Given the description of an element on the screen output the (x, y) to click on. 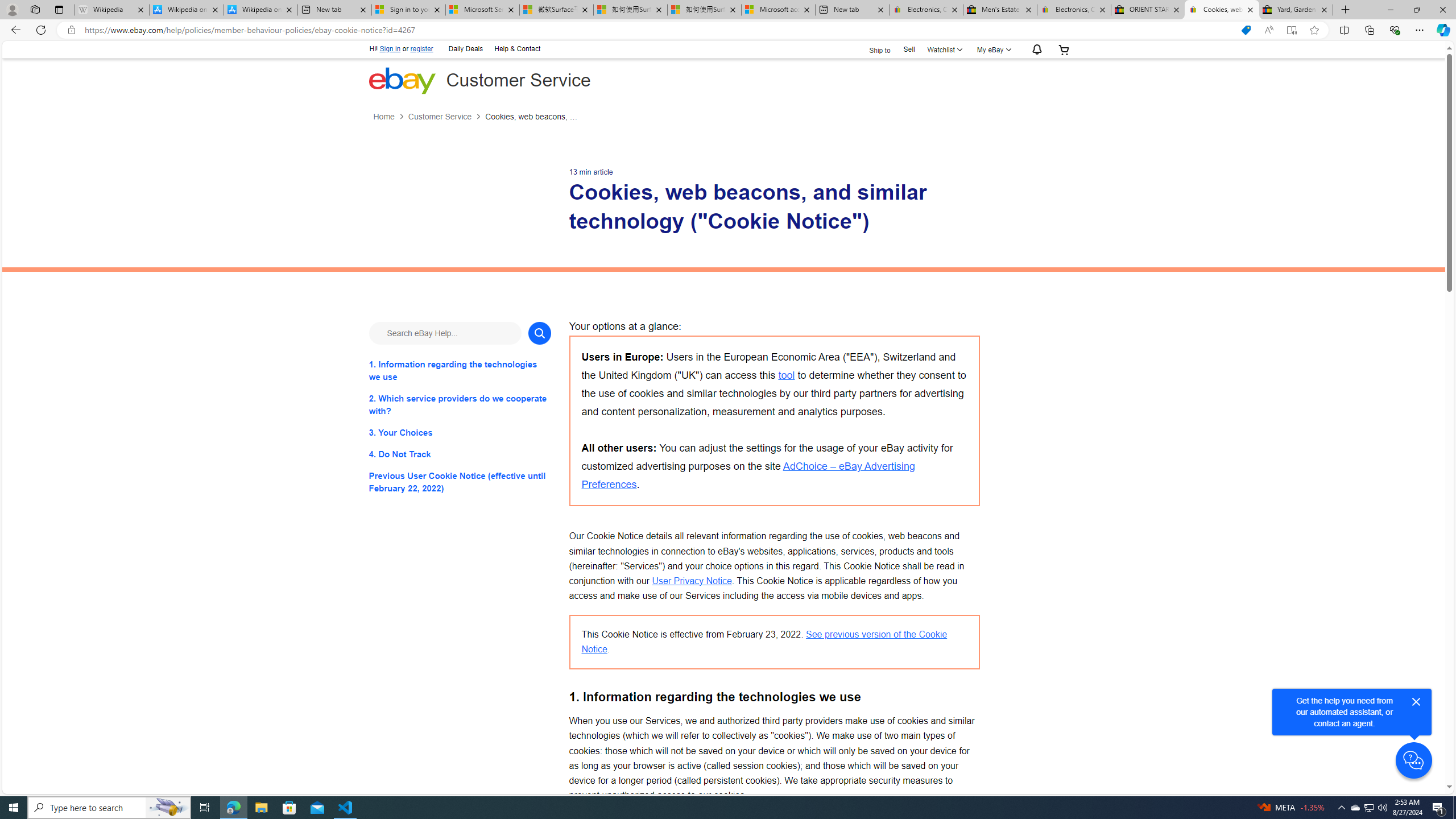
Search eBay Help... (444, 332)
See previous version of the Cookie Notice (763, 641)
Enter Immersive Reader (F9) (1291, 29)
